Given the description of an element on the screen output the (x, y) to click on. 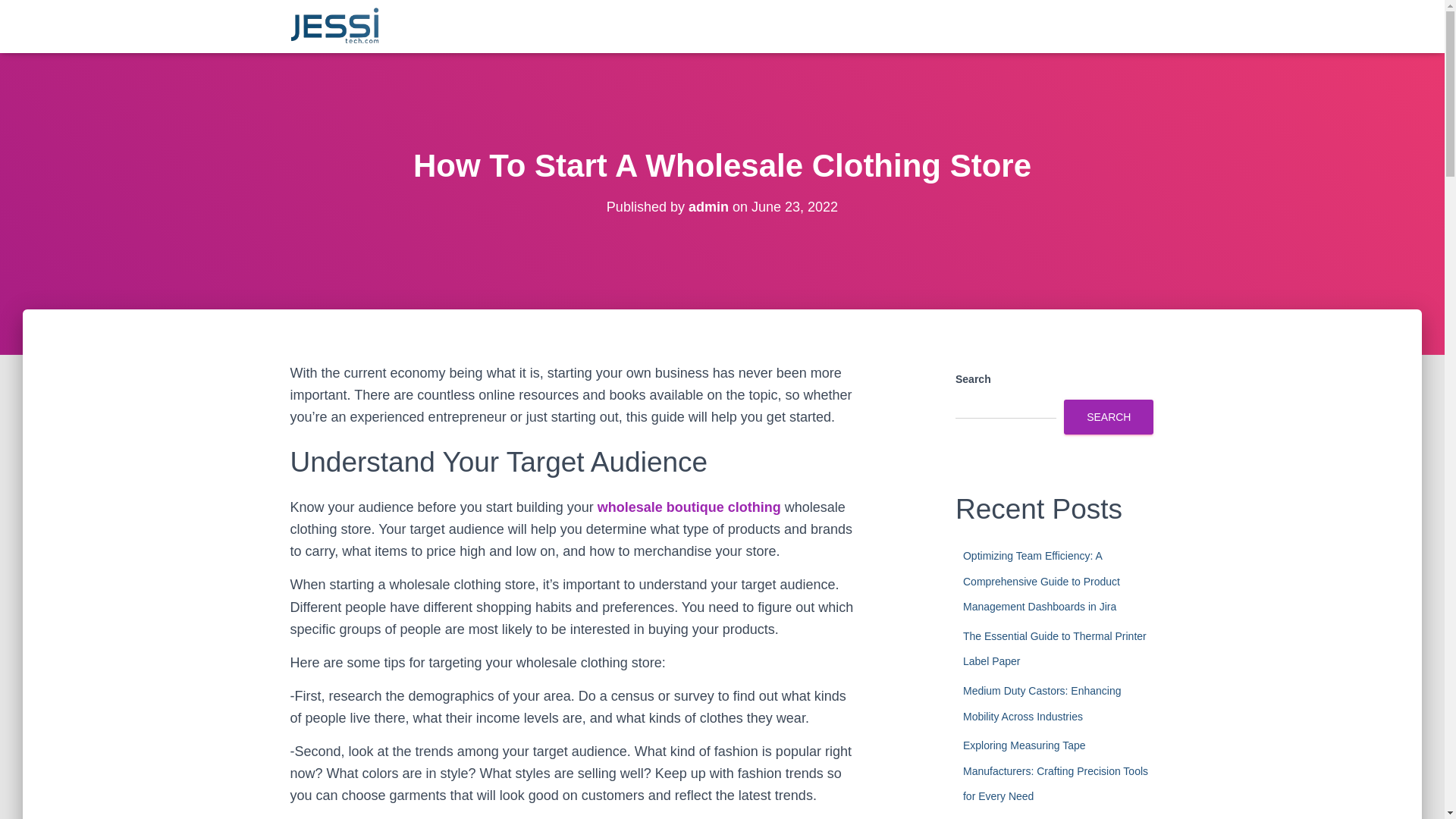
The Essential Guide to Thermal Printer Label Paper (1054, 648)
wholesale boutique clothing (688, 507)
SEARCH (1108, 416)
admin (708, 206)
Medium Duty Castors: Enhancing Mobility Across Industries (1041, 703)
